Given the description of an element on the screen output the (x, y) to click on. 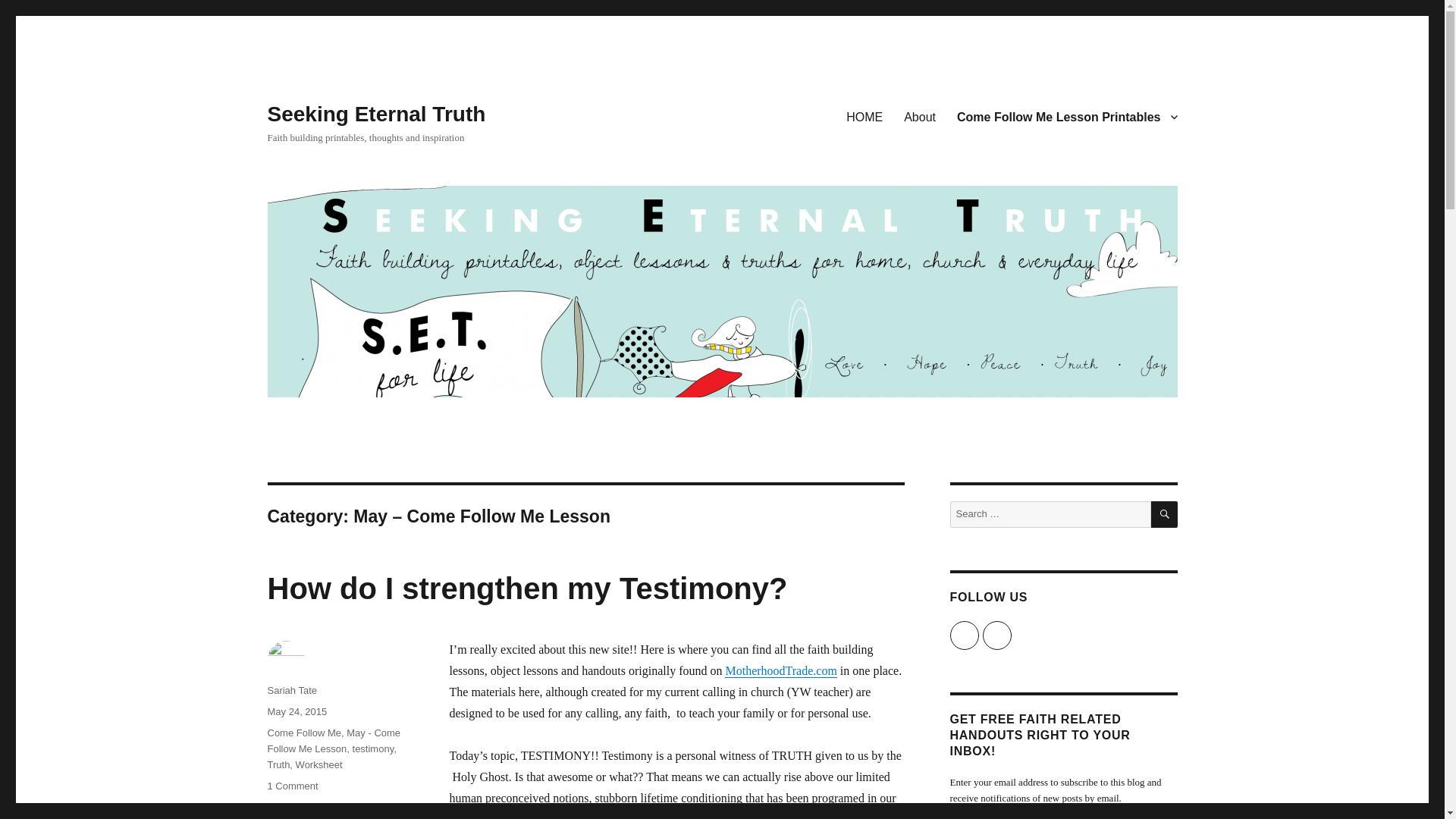
Come Follow Me (303, 732)
SEARCH (1164, 514)
Sariah Tate (291, 690)
About (919, 116)
Worksheet (318, 764)
Come Follow Me Lesson Printables (291, 785)
Facebook (1067, 116)
May - Come Follow Me Lesson (963, 635)
testimony (333, 740)
